Given the description of an element on the screen output the (x, y) to click on. 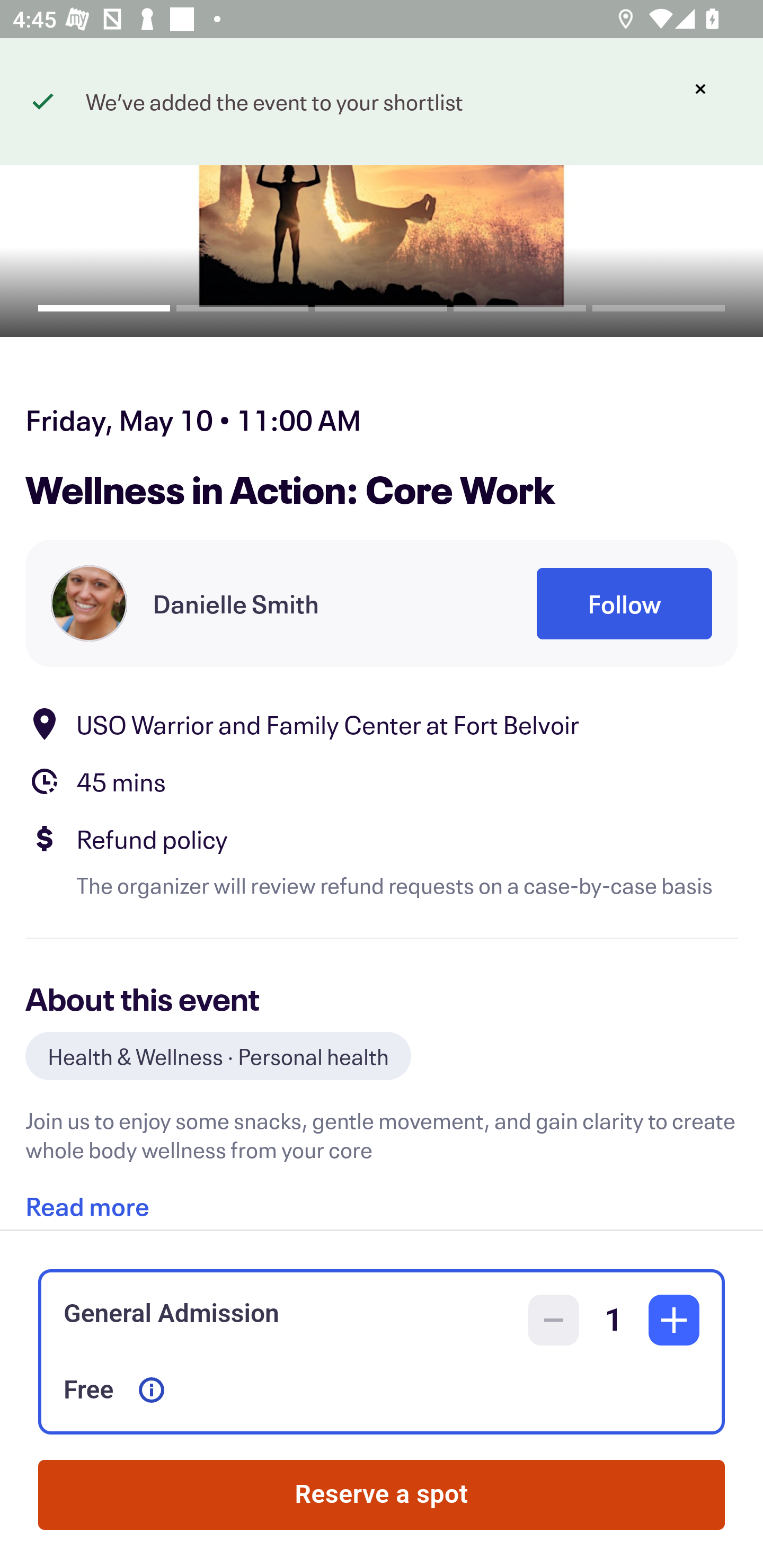
Dismiss notification (700, 89)
Back (57, 94)
Organizer profile picture (89, 602)
Danielle Smith (235, 603)
Follow (623, 603)
Read more (87, 1199)
Decrease (553, 1320)
Increase (673, 1320)
Show more information (151, 1389)
Reserve a spot (381, 1494)
